Given the description of an element on the screen output the (x, y) to click on. 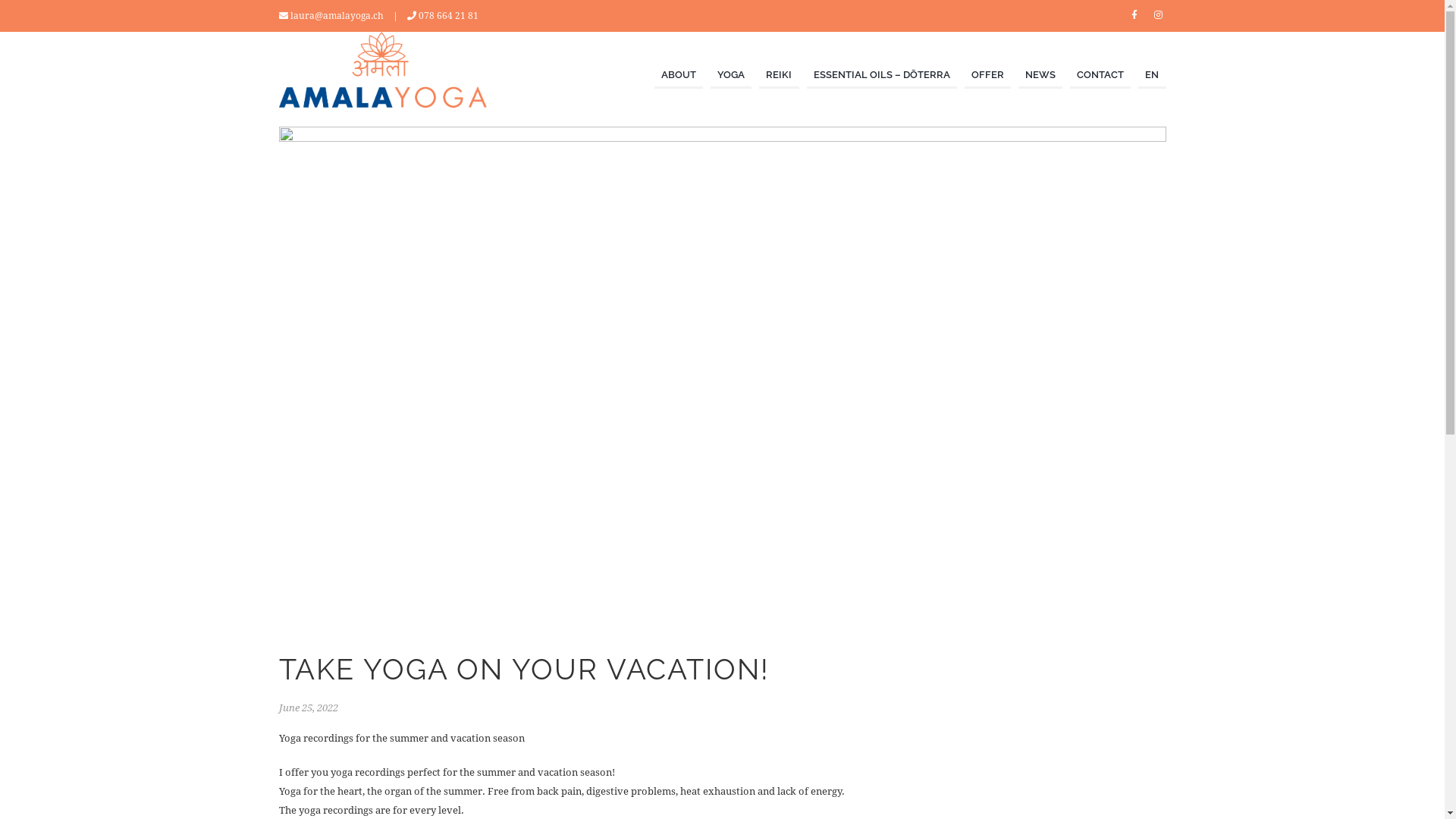
CONTACT Element type: text (1100, 75)
ABOUT Element type: text (678, 75)
OFFER Element type: text (987, 75)
EN Element type: text (1151, 75)
REIKI Element type: text (778, 75)
NEWS Element type: text (1040, 75)
078 664 21 81 Element type: text (448, 15)
YOGA Element type: text (730, 75)
Take yoga on your vacation! Element type: hover (722, 376)
laura@amalayoga.ch Element type: text (335, 15)
